Given the description of an element on the screen output the (x, y) to click on. 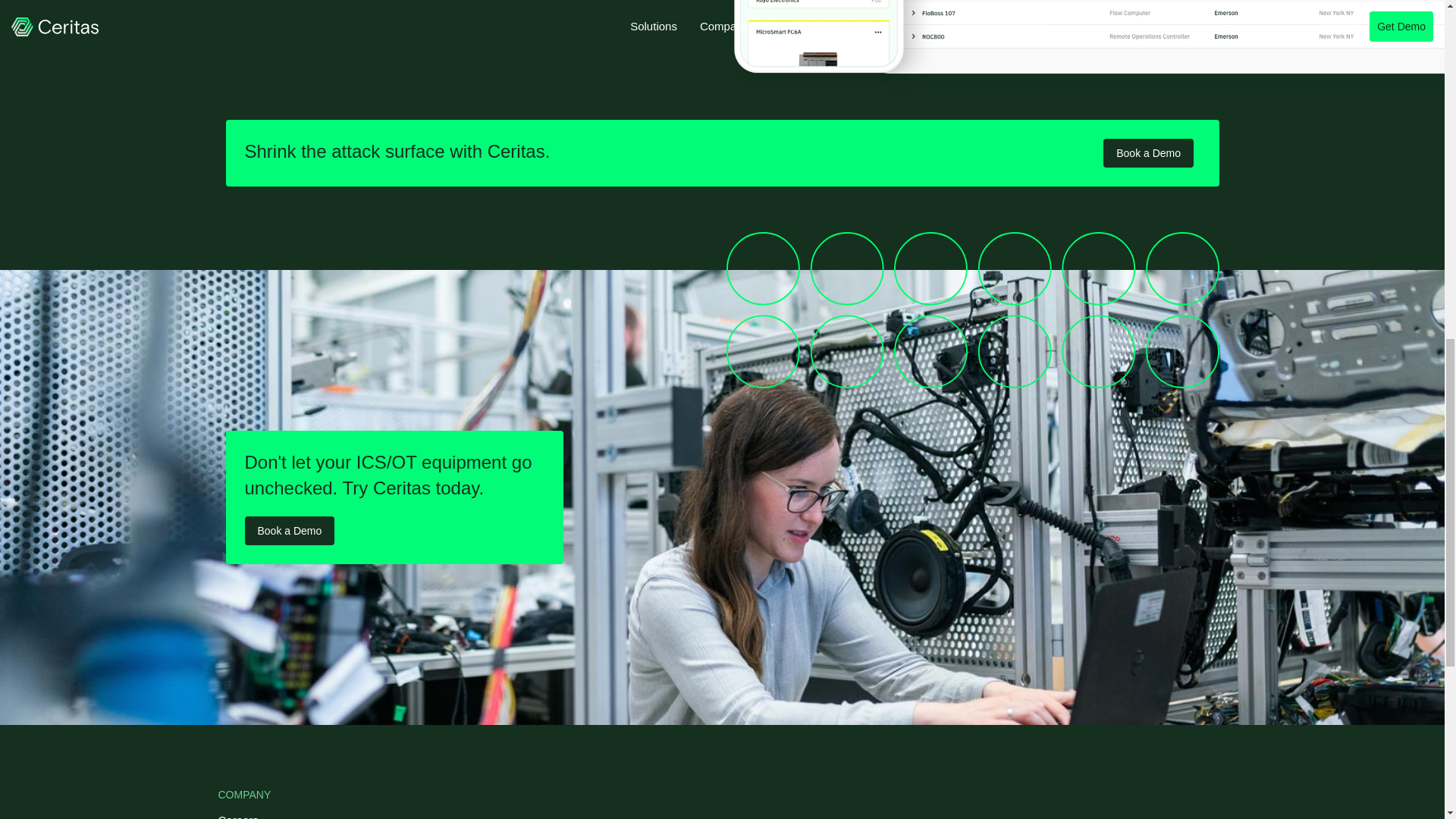
Book a Demo (1148, 152)
Careers (267, 815)
Book a Demo (289, 530)
